Given the description of an element on the screen output the (x, y) to click on. 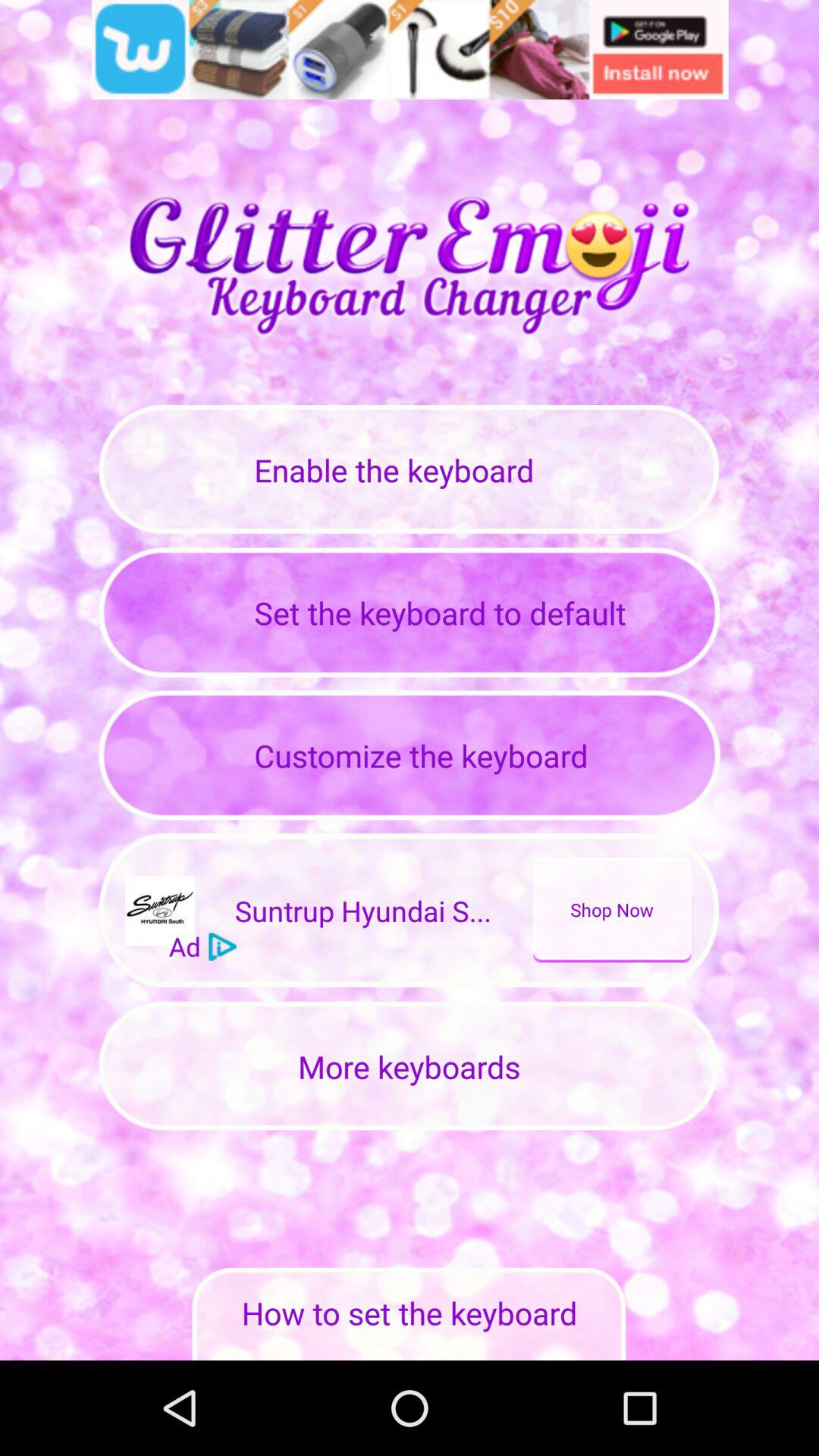
go to shopping page (409, 49)
